Given the description of an element on the screen output the (x, y) to click on. 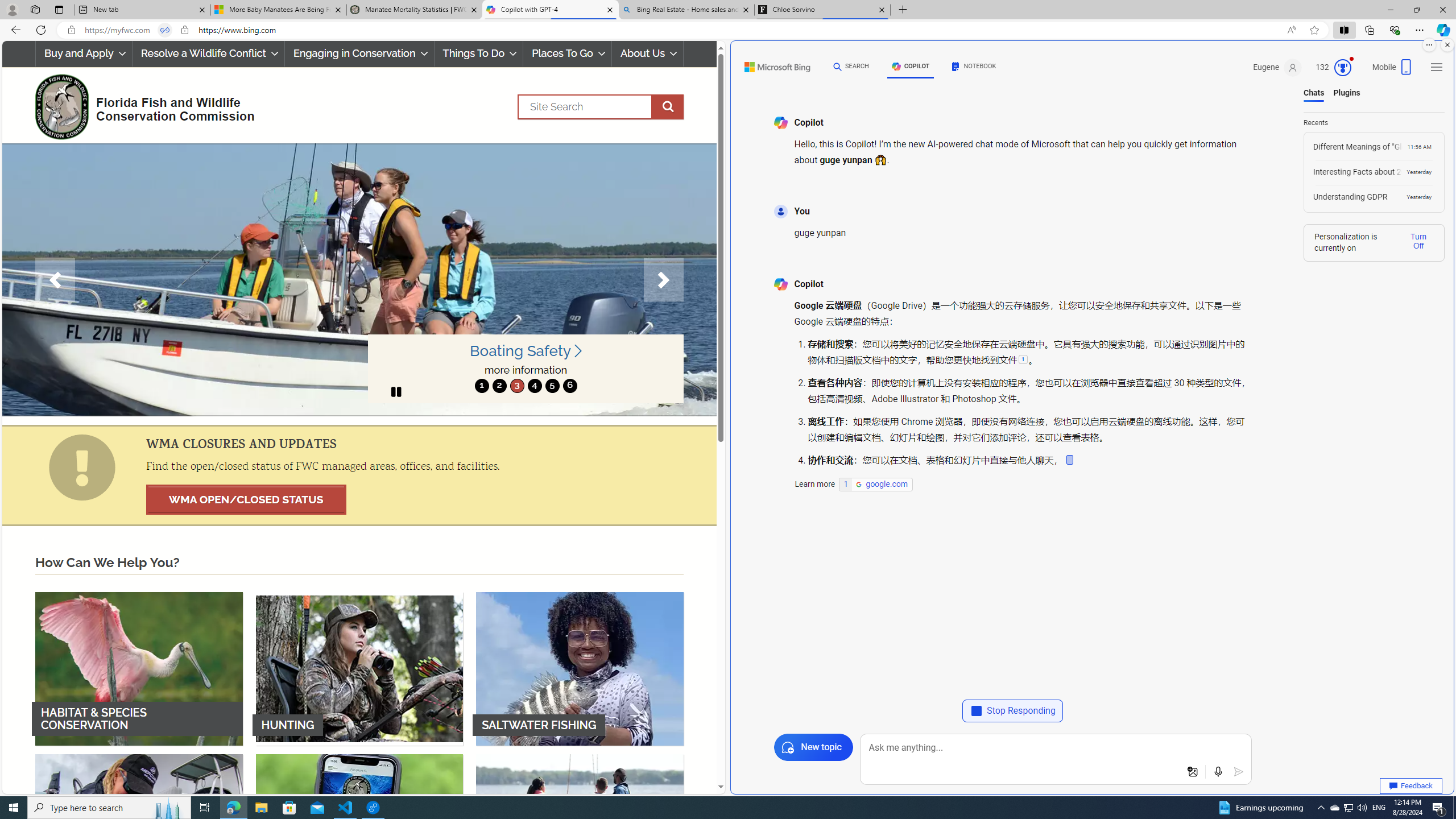
Use microphone (1217, 771)
move to slide 4 (534, 385)
Boating Safety  (526, 351)
execute site search (667, 106)
Back to Bing search (770, 64)
2 (499, 385)
Load chat (1373, 197)
6 (569, 385)
Tabs in split screen (164, 29)
